Given the description of an element on the screen output the (x, y) to click on. 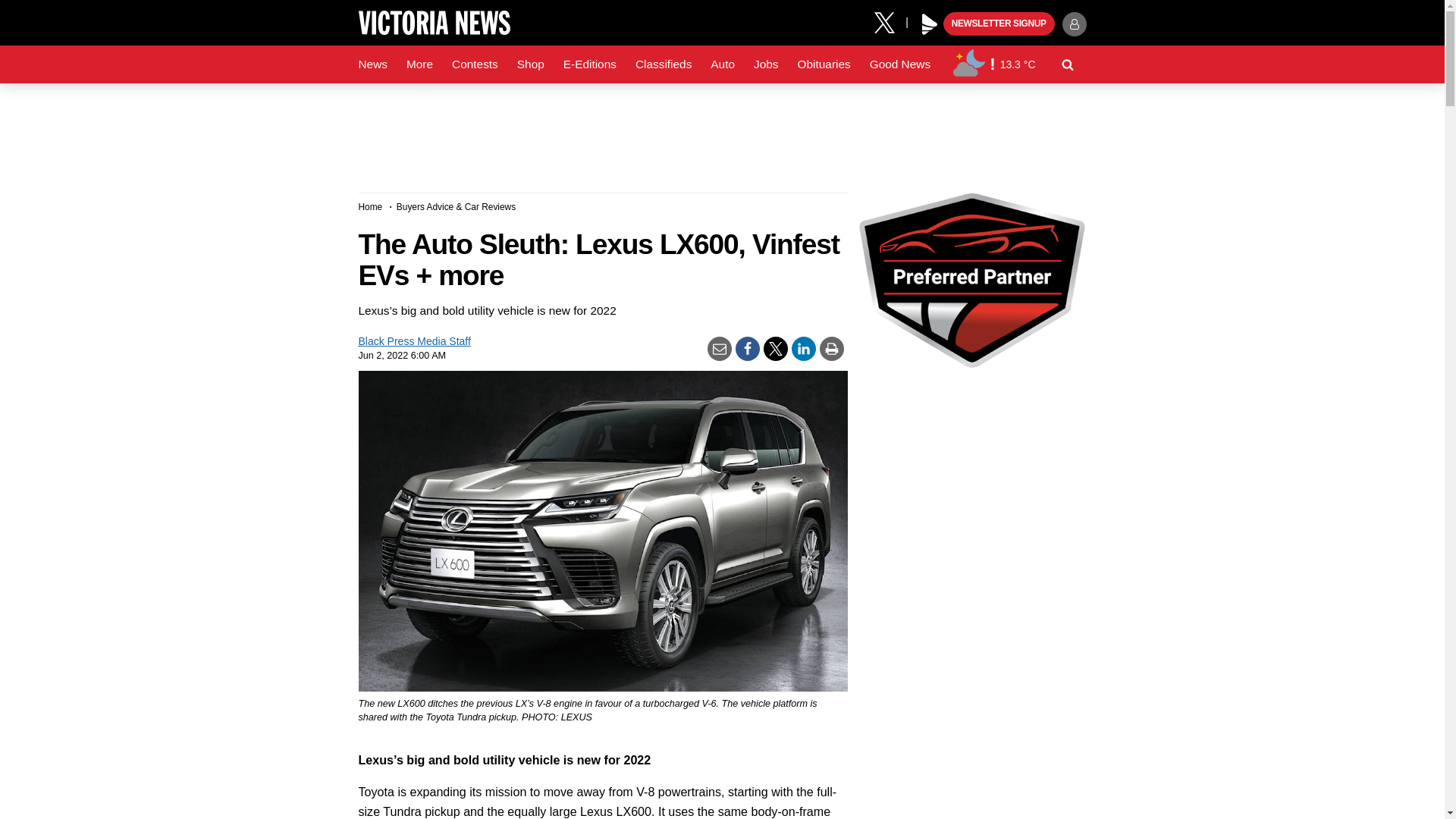
3rd party ad content (721, 131)
Black Press Media (929, 24)
NEWSLETTER SIGNUP (998, 24)
News (372, 64)
Play (929, 24)
X (889, 21)
